Given the description of an element on the screen output the (x, y) to click on. 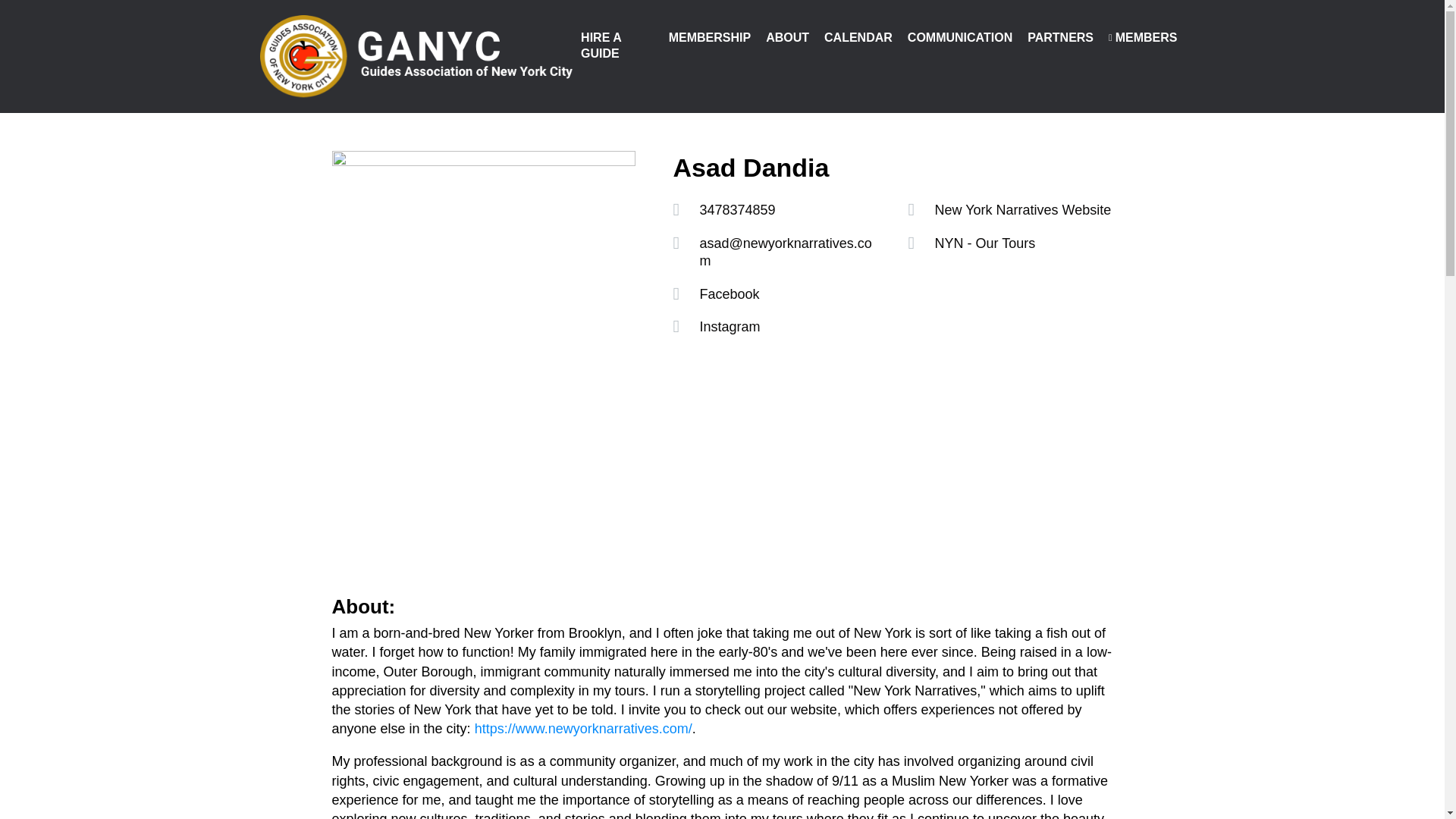
MEMBERS (1142, 37)
NYN - Our Tours (984, 242)
Instagram (729, 326)
CALENDAR (858, 37)
COMMUNICATION (959, 37)
MEMBERSHIP (709, 37)
PARTNERS (1060, 37)
Facebook (728, 294)
New York Narratives Website (1022, 209)
HIRE A GUIDE (616, 46)
ABOUT (787, 37)
